Given the description of an element on the screen output the (x, y) to click on. 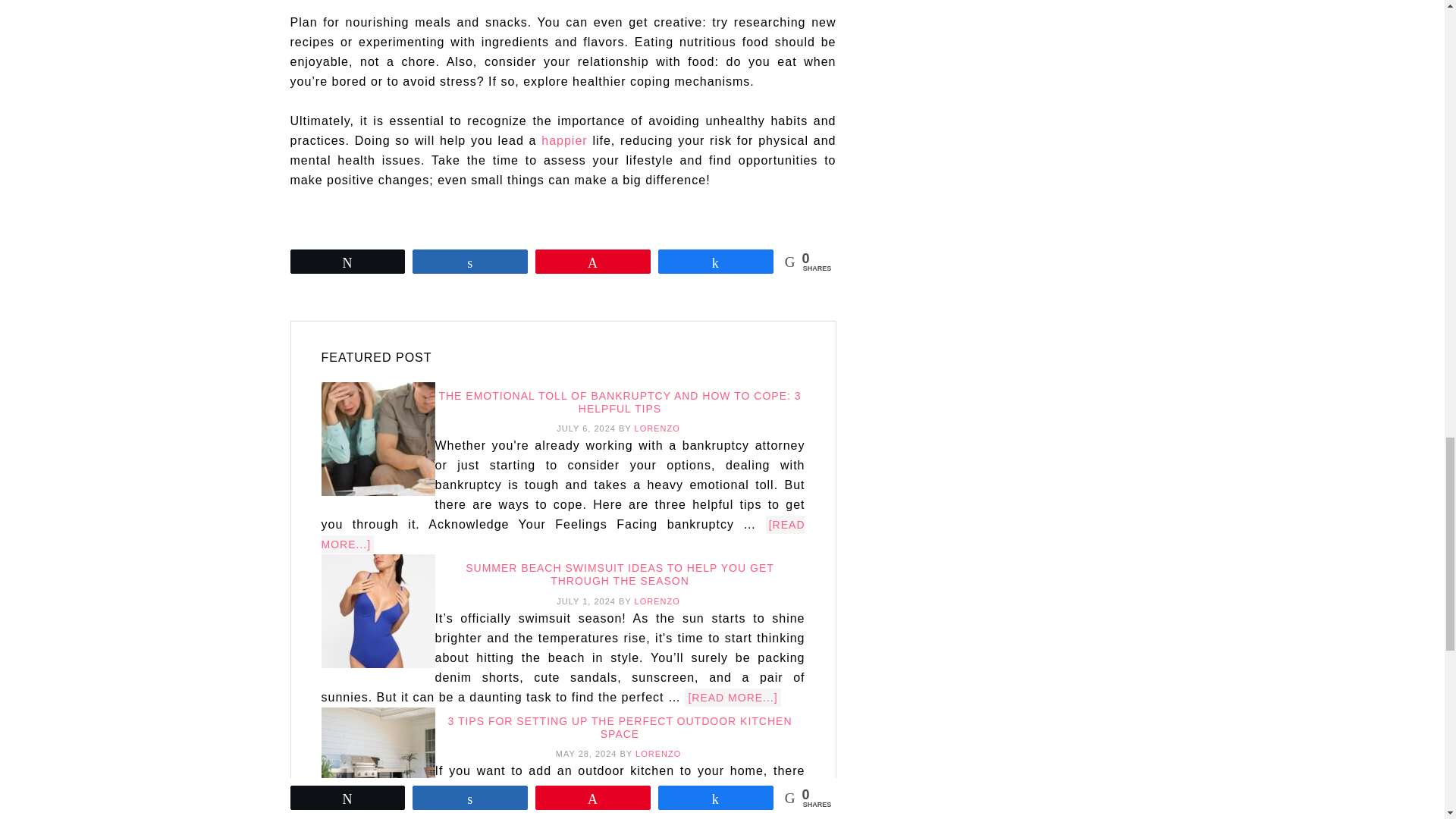
LORENZO (657, 753)
LORENZO (656, 601)
LORENZO (656, 428)
3 TIPS FOR SETTING UP THE PERFECT OUTDOOR KITCHEN SPACE (619, 727)
happier (563, 140)
